Given the description of an element on the screen output the (x, y) to click on. 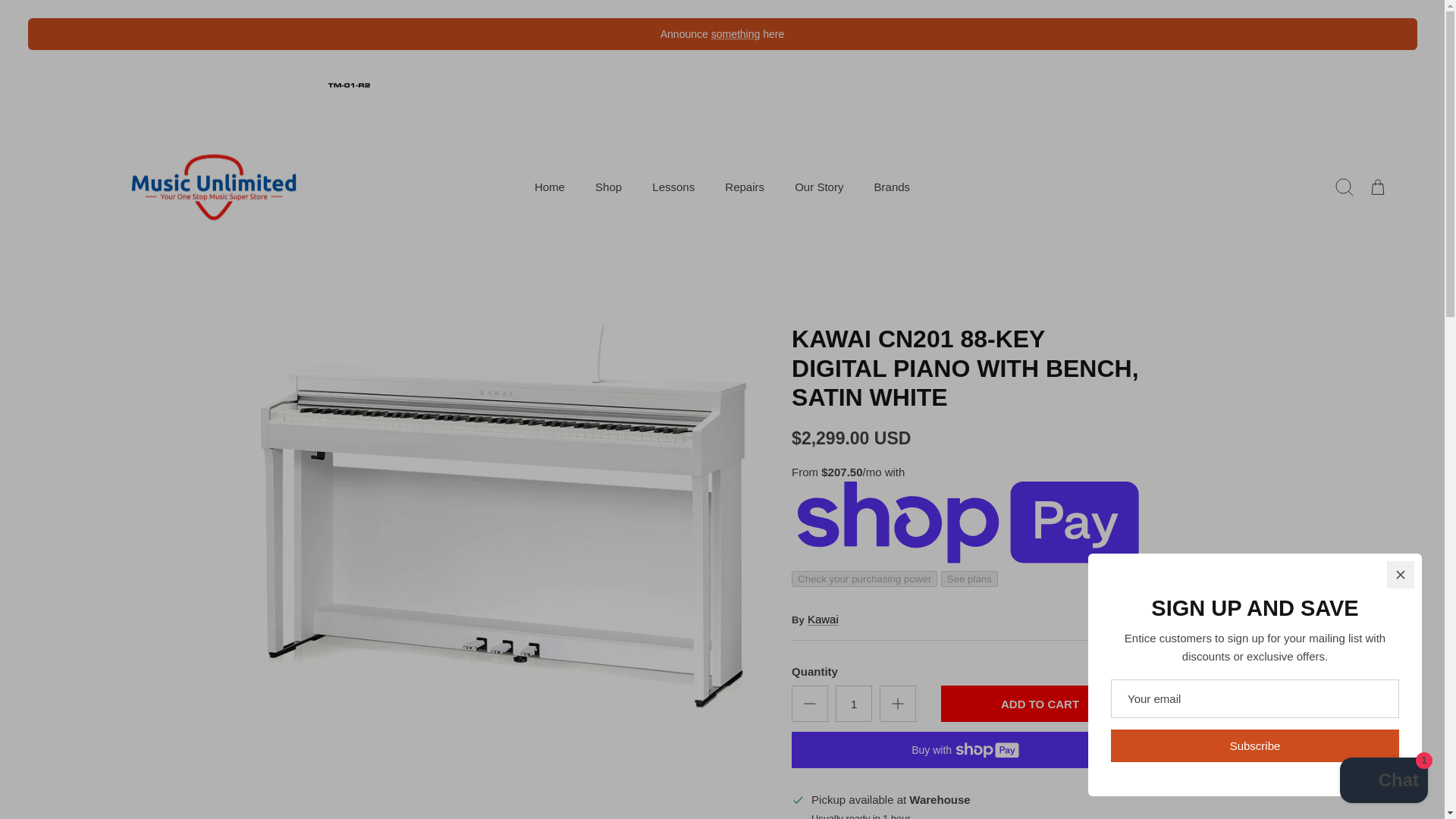
Intrumentpro.com, Inc (212, 187)
ADD TO CART (1039, 703)
Shop (607, 187)
Our Story (818, 187)
Repairs (744, 187)
something (735, 33)
Cart (1376, 186)
1 (853, 703)
Kawai (823, 618)
Lessons (673, 187)
Brands (892, 187)
Shopify online store chat (1383, 781)
Home (549, 187)
Search (1342, 186)
